Given the description of an element on the screen output the (x, y) to click on. 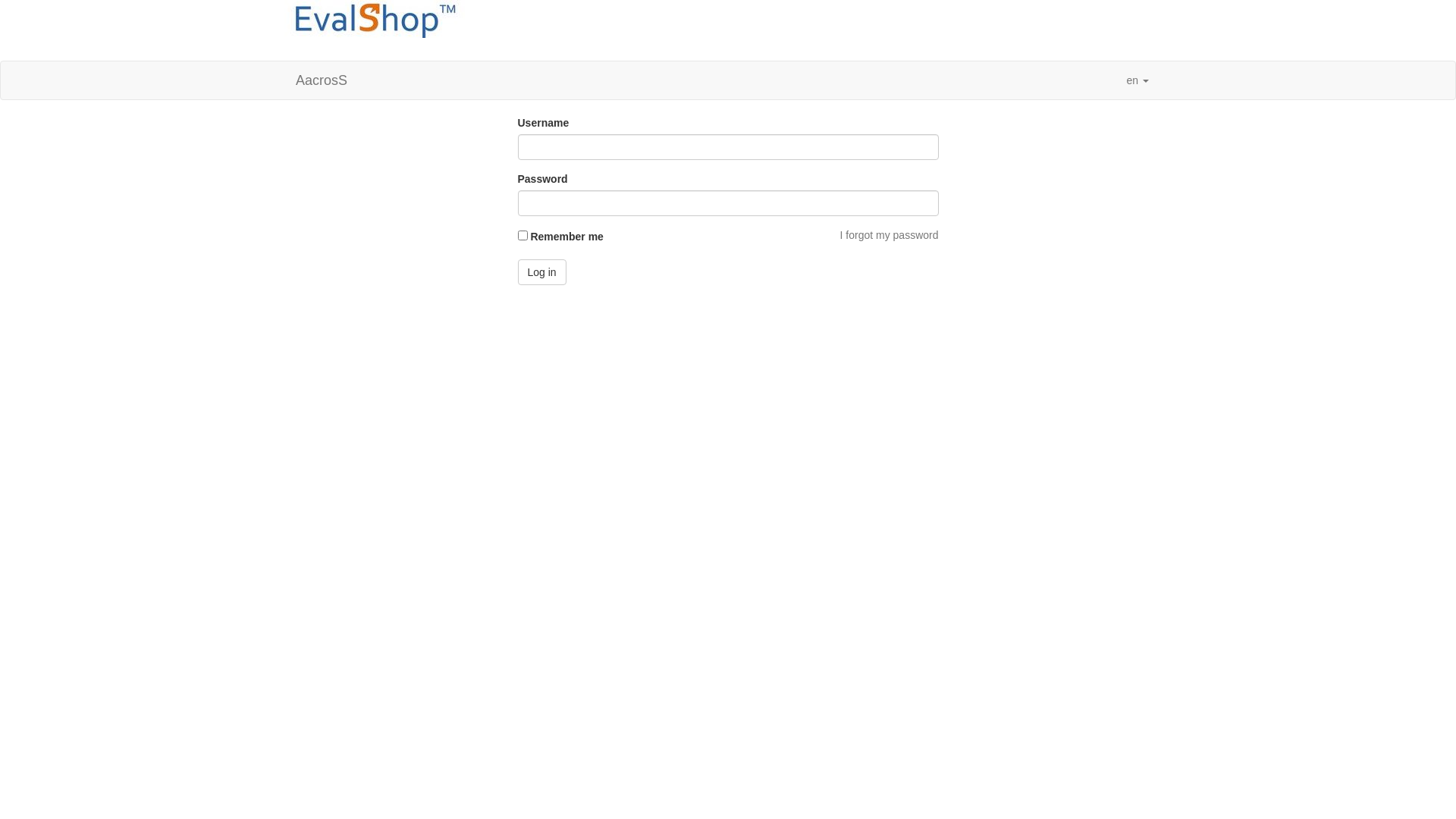
AacrosS Element type: text (321, 80)
I forgot my password Element type: text (889, 234)
en Element type: text (1137, 80)
Log in Element type: text (541, 272)
